Given the description of an element on the screen output the (x, y) to click on. 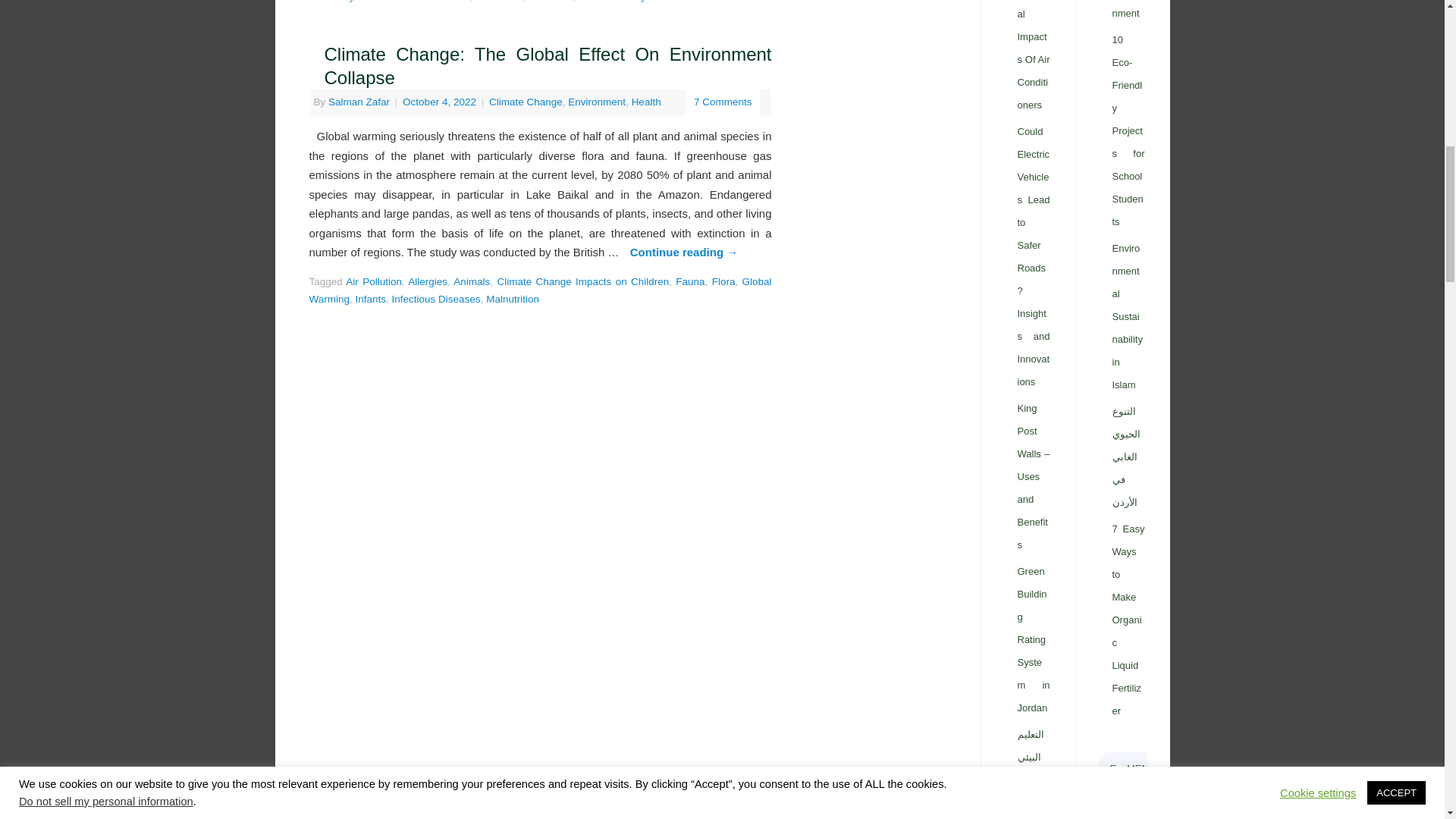
View all posts by Salman Zafar (359, 101)
10:13 am (441, 101)
